Given the description of an element on the screen output the (x, y) to click on. 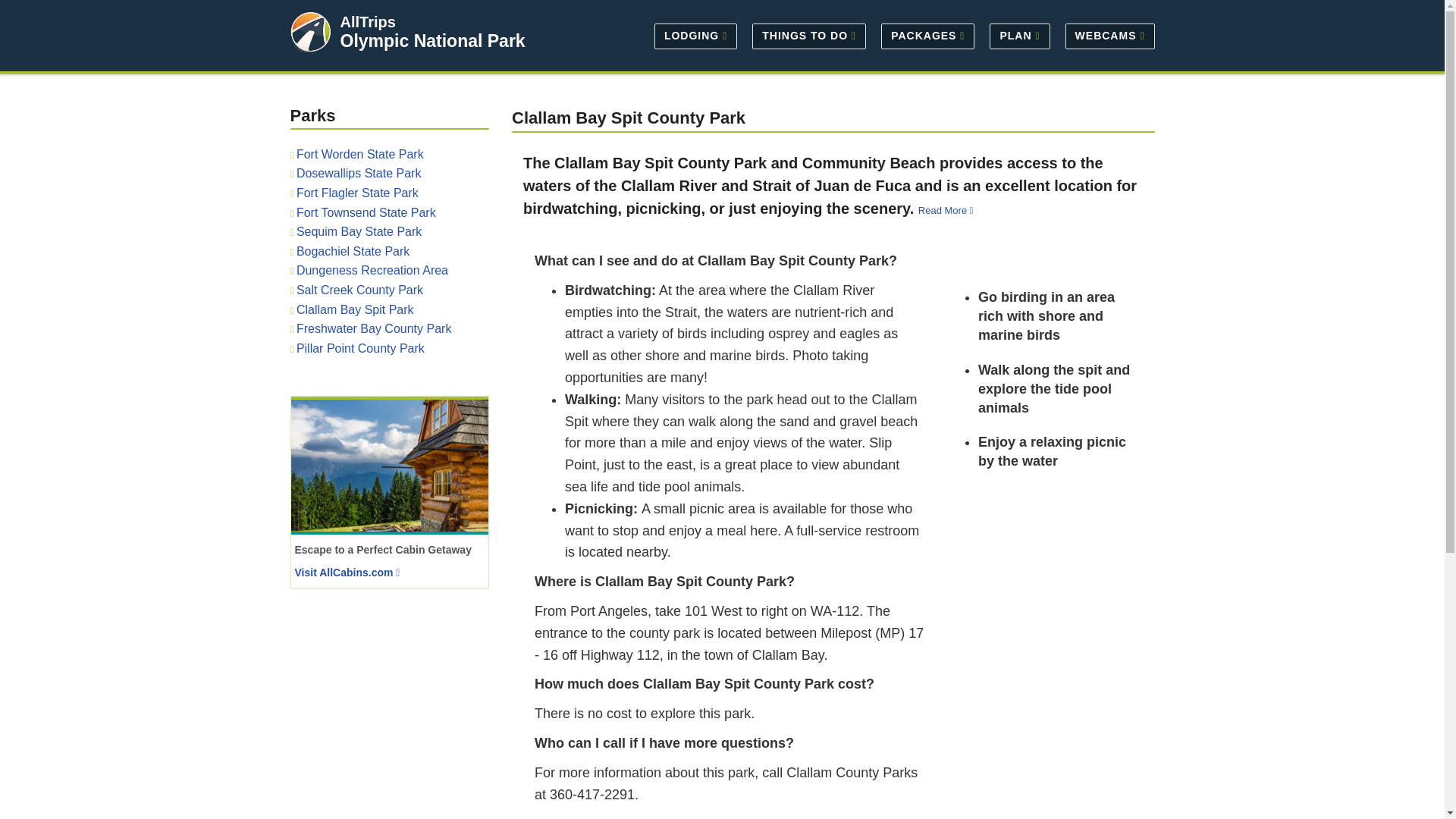
THINGS TO DO (808, 35)
Olympic National Park (431, 40)
Fort Worden State Park (360, 154)
LODGING (695, 35)
Dosewallips State Park (359, 173)
PLAN (1019, 35)
WEBCAMS (1106, 35)
AllTrips (366, 21)
PACKAGES (927, 35)
Read More (947, 210)
